Given the description of an element on the screen output the (x, y) to click on. 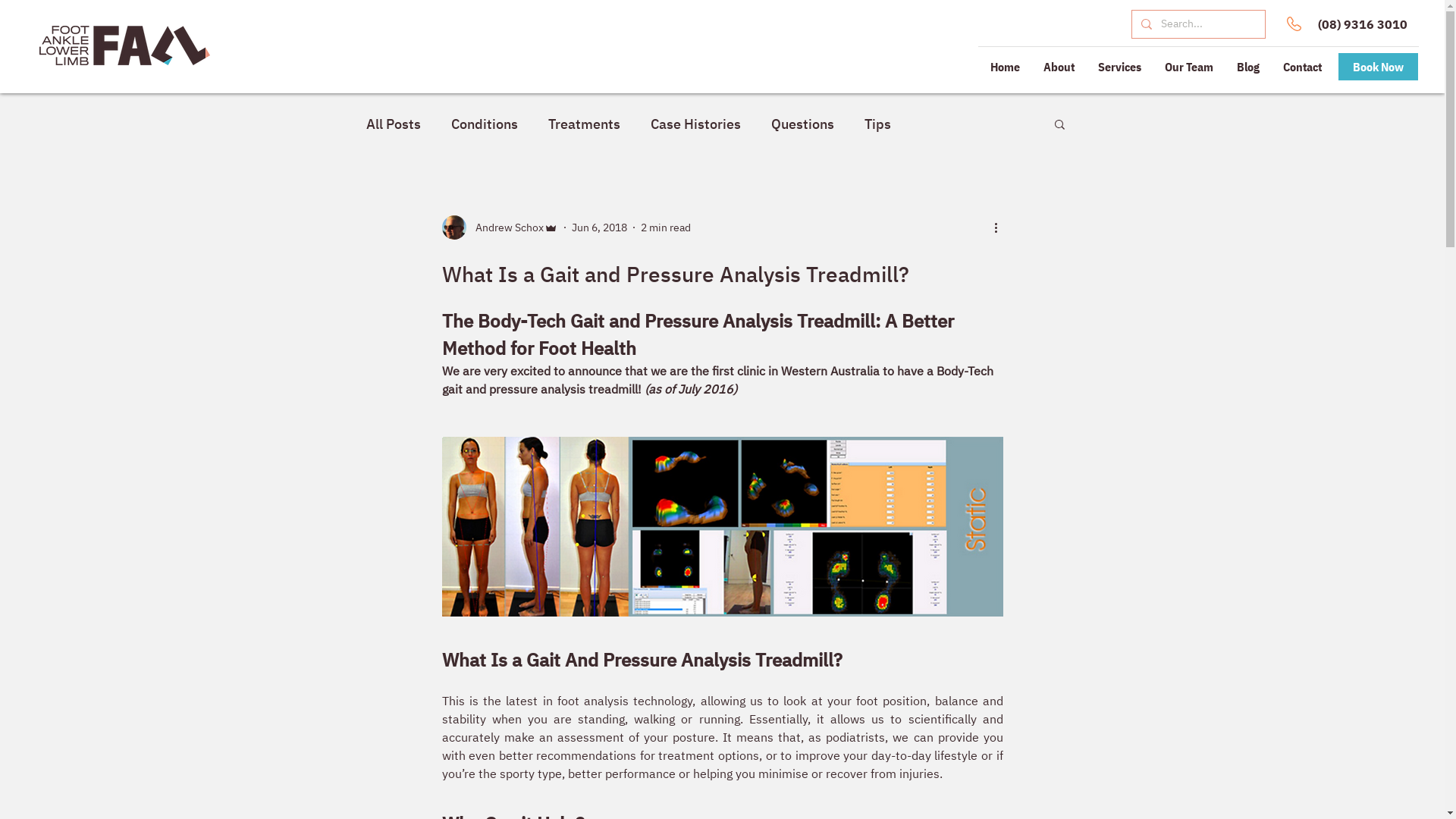
Questions Element type: text (801, 123)
Services Element type: text (1118, 66)
About Element type: text (1058, 66)
Contact Element type: text (1301, 66)
Book Now Element type: text (1378, 66)
(08) 9316 3010 Element type: text (1363, 23)
Blog Element type: text (1247, 66)
Tips Element type: text (877, 123)
Our Team Element type: text (1188, 66)
Andrew Schox Element type: text (499, 227)
Case Histories Element type: text (695, 123)
Conditions Element type: text (483, 123)
Treatments Element type: text (583, 123)
Home Element type: text (1004, 66)
All Posts Element type: text (392, 123)
